Given the description of an element on the screen output the (x, y) to click on. 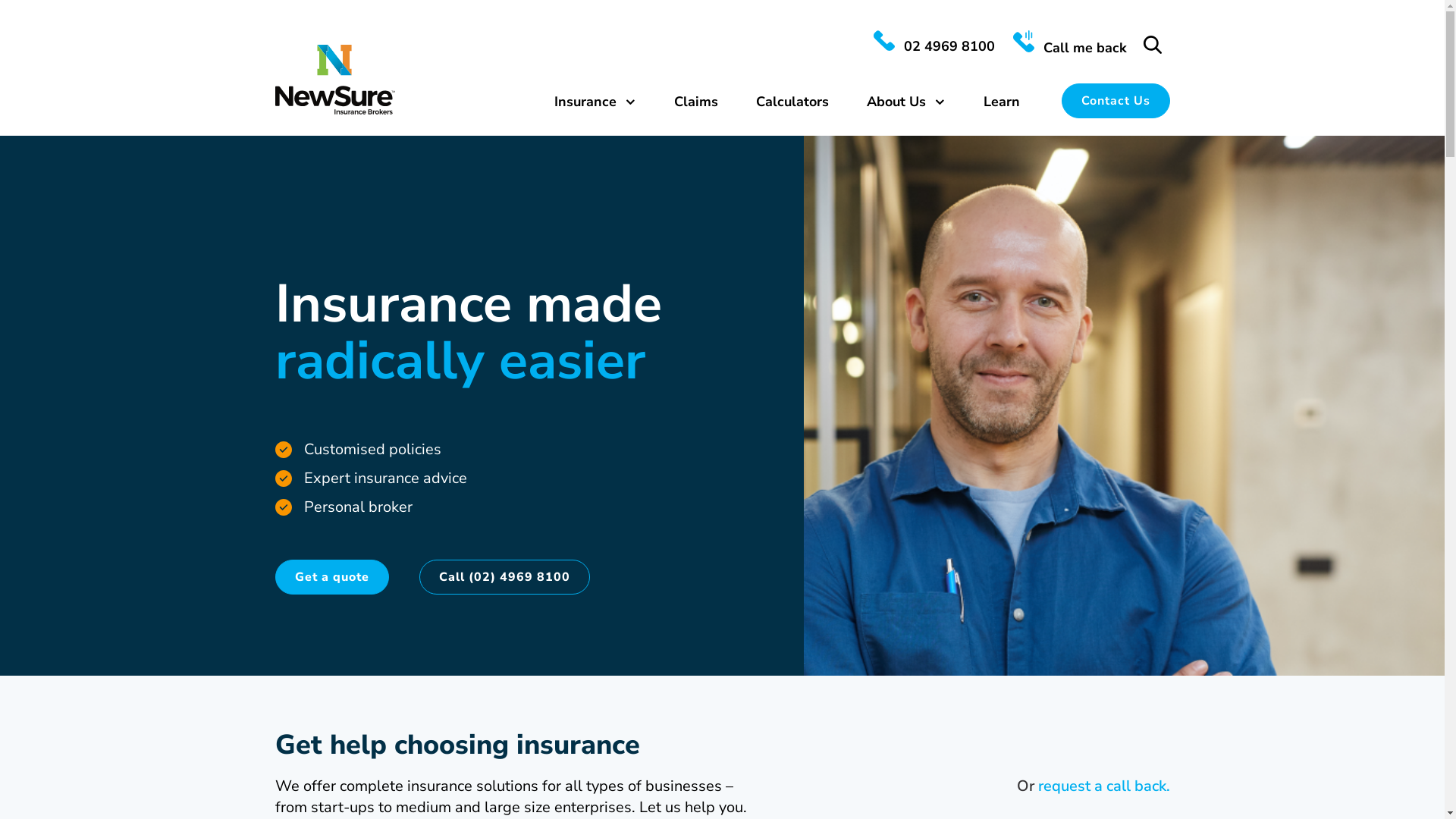
Calculators Element type: text (791, 100)
Call (02) 4969 8100 Element type: text (503, 576)
About Us Element type: text (905, 100)
Learn Element type: text (1000, 100)
02 4969 8100 Element type: text (933, 46)
Call me back Element type: text (1069, 47)
Claims Element type: text (694, 100)
Contact Us Element type: text (1115, 100)
request a call back. Element type: text (1103, 786)
Insurance Element type: text (594, 100)
Get a quote Element type: text (331, 576)
